Given the description of an element on the screen output the (x, y) to click on. 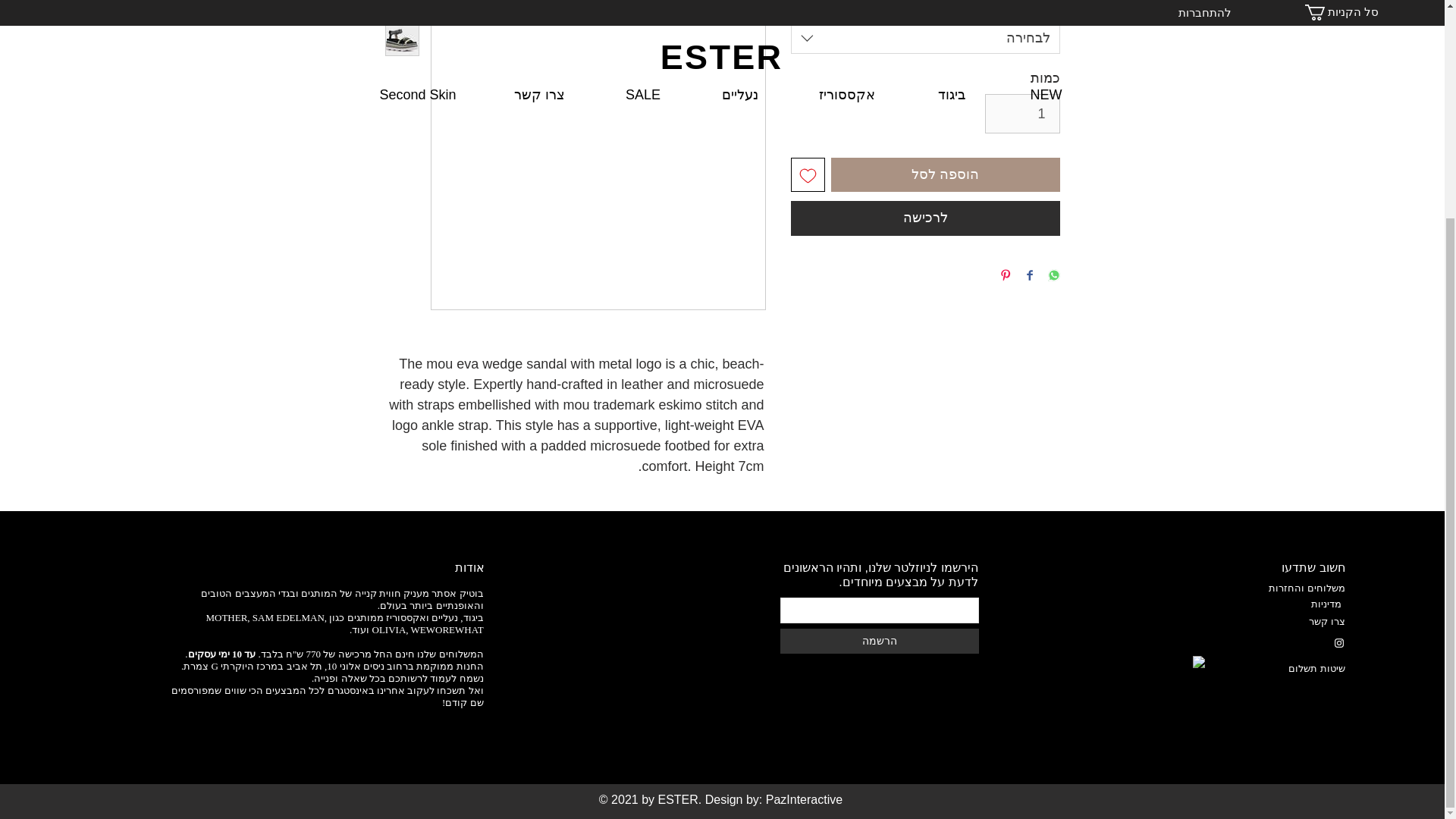
1 (1022, 113)
PazInteractive (804, 799)
